Given the description of an element on the screen output the (x, y) to click on. 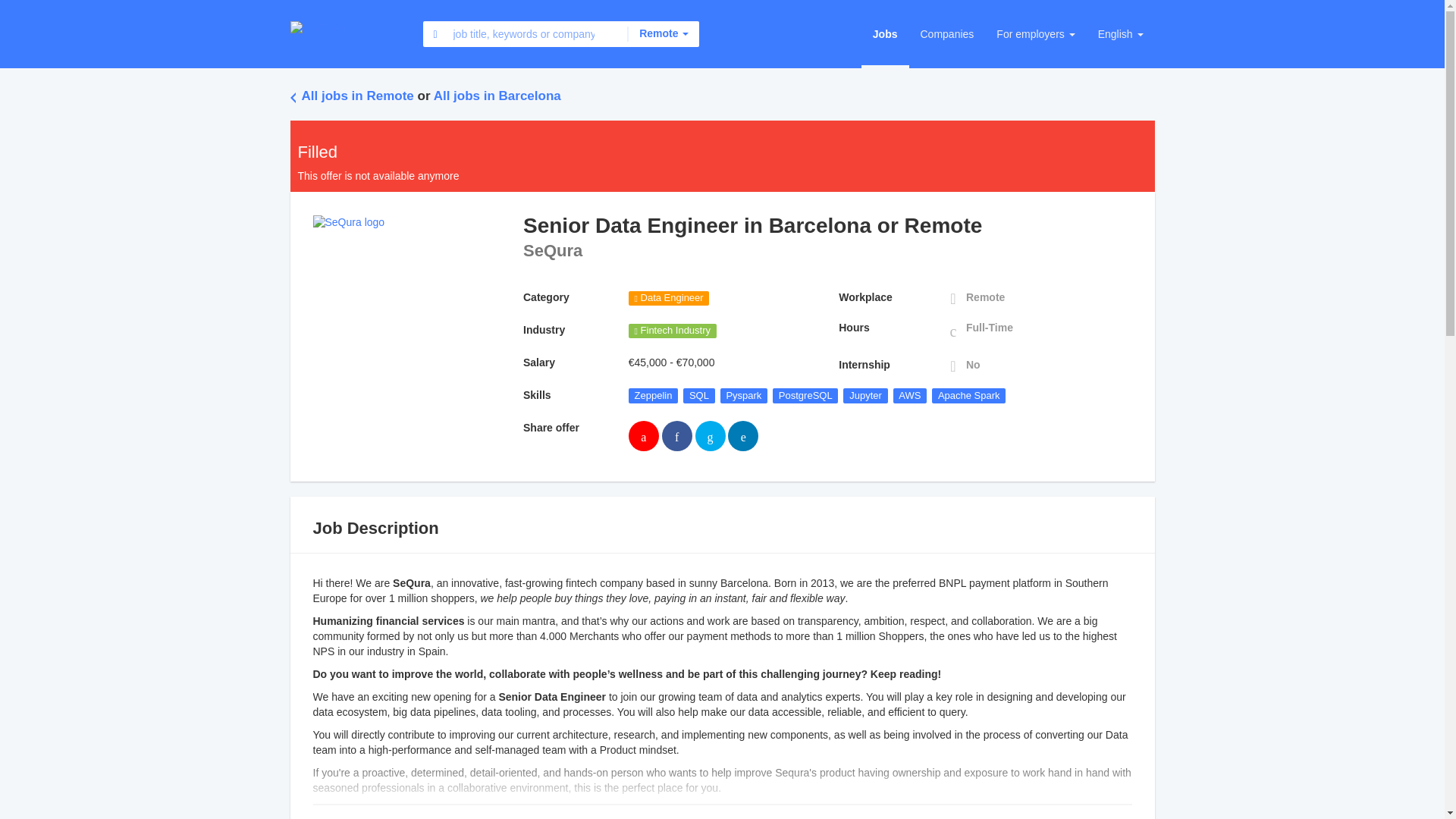
Browse PostgreSQL offers (805, 395)
Browse Pyspark offers (744, 395)
Browse Zeppelin offers (653, 395)
Browse Apache Spark offers (968, 395)
Jupyter (864, 395)
Pyspark (744, 395)
PostgreSQL (805, 395)
Data Engineer (669, 298)
Browse AWS offers (910, 395)
Browse Fintech Industry jobs (672, 330)
